Given the description of an element on the screen output the (x, y) to click on. 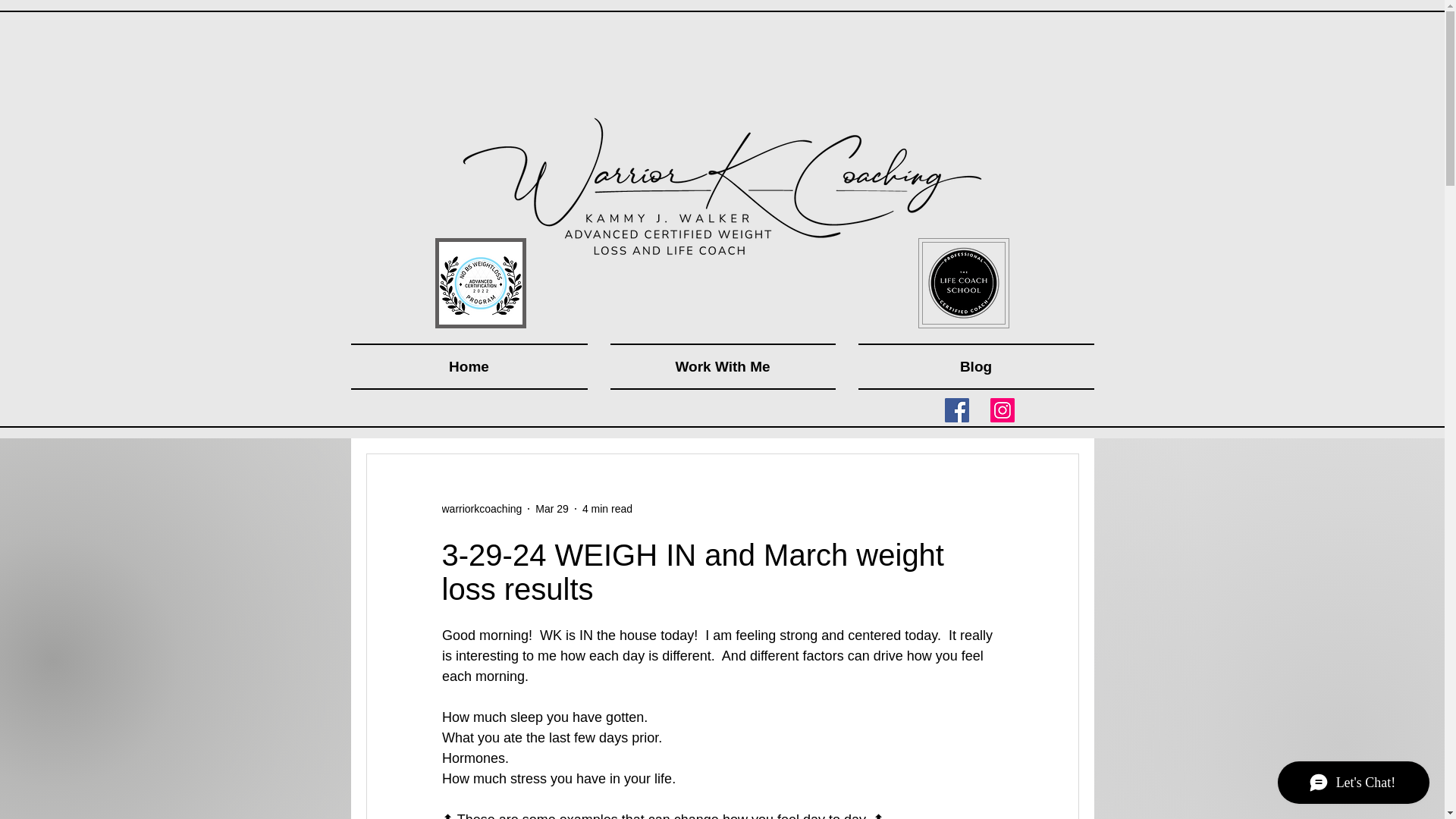
Home (474, 366)
Mar 29 (552, 508)
Blog (969, 366)
warriorkcoaching (481, 508)
4 min read (606, 508)
warriorkcoaching (481, 508)
Work With Me (722, 366)
